Given the description of an element on the screen output the (x, y) to click on. 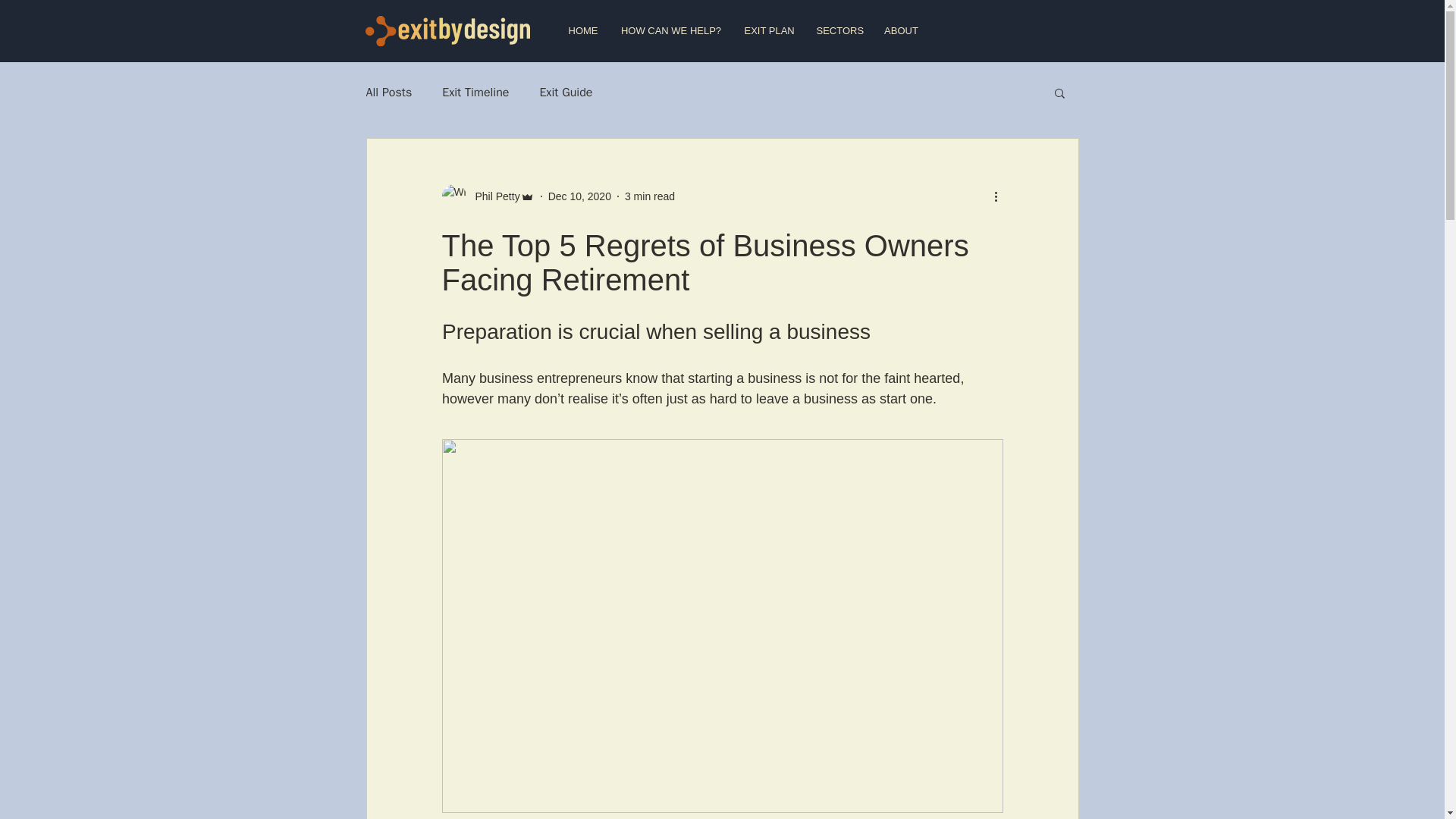
3 min read (649, 195)
Exit Timeline (475, 92)
EXIT PLAN (768, 30)
Phil Petty (487, 196)
All Posts (388, 92)
Exit Guide (565, 92)
Dec 10, 2020 (579, 195)
HOME (582, 30)
SECTORS (838, 30)
Original on Transparent.png (447, 30)
